Given the description of an element on the screen output the (x, y) to click on. 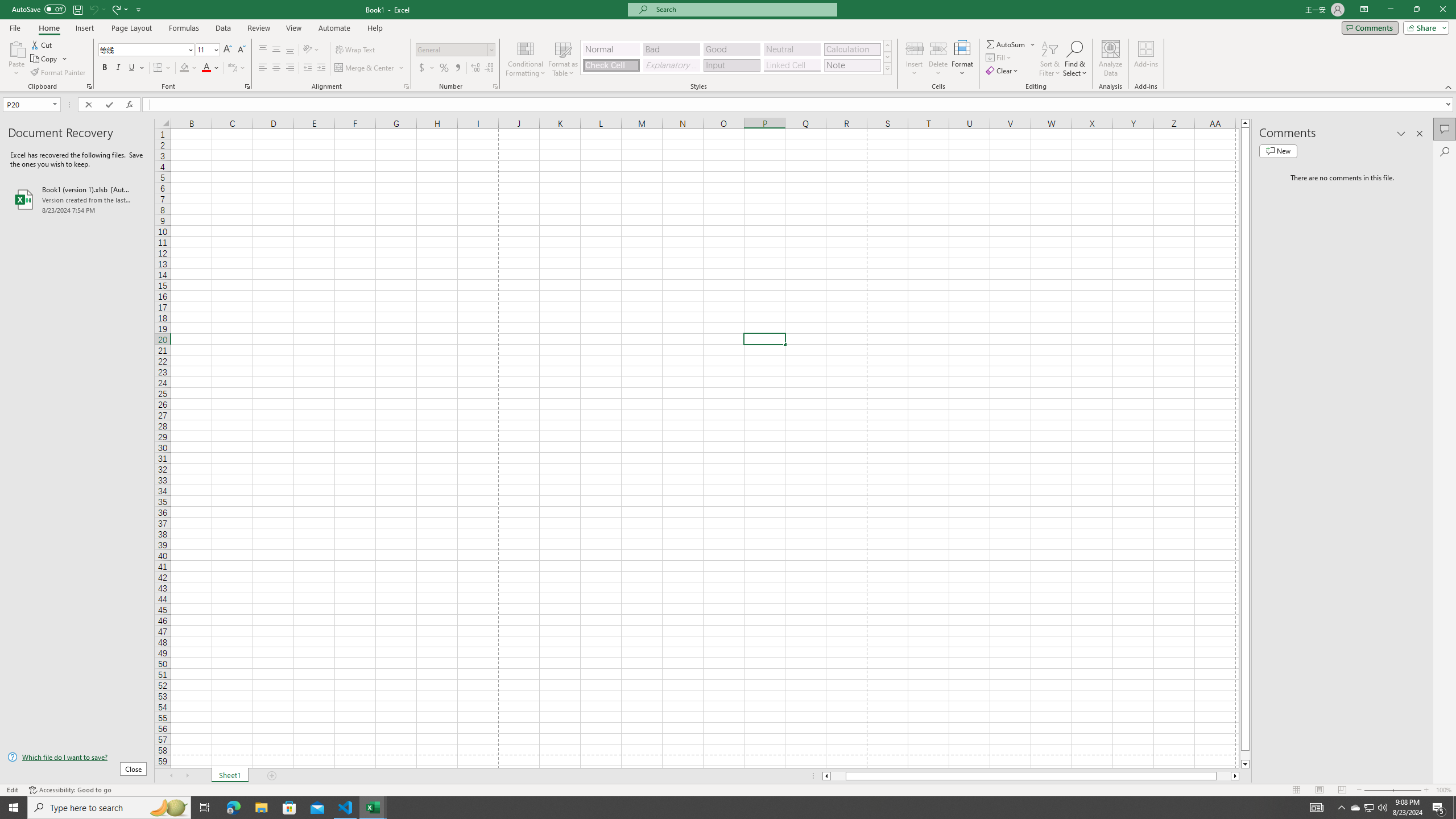
Bad (671, 49)
Format Cell Font (247, 85)
Good (731, 49)
Collapse the Ribbon (1448, 86)
Format (962, 58)
Increase Indent (320, 67)
Normal (1296, 790)
Neutral (791, 49)
Copy (45, 58)
Name Box (30, 104)
Home (48, 28)
Fill Color (188, 67)
Number Format (451, 49)
Page Layout (131, 28)
Page left (838, 775)
